Given the description of an element on the screen output the (x, y) to click on. 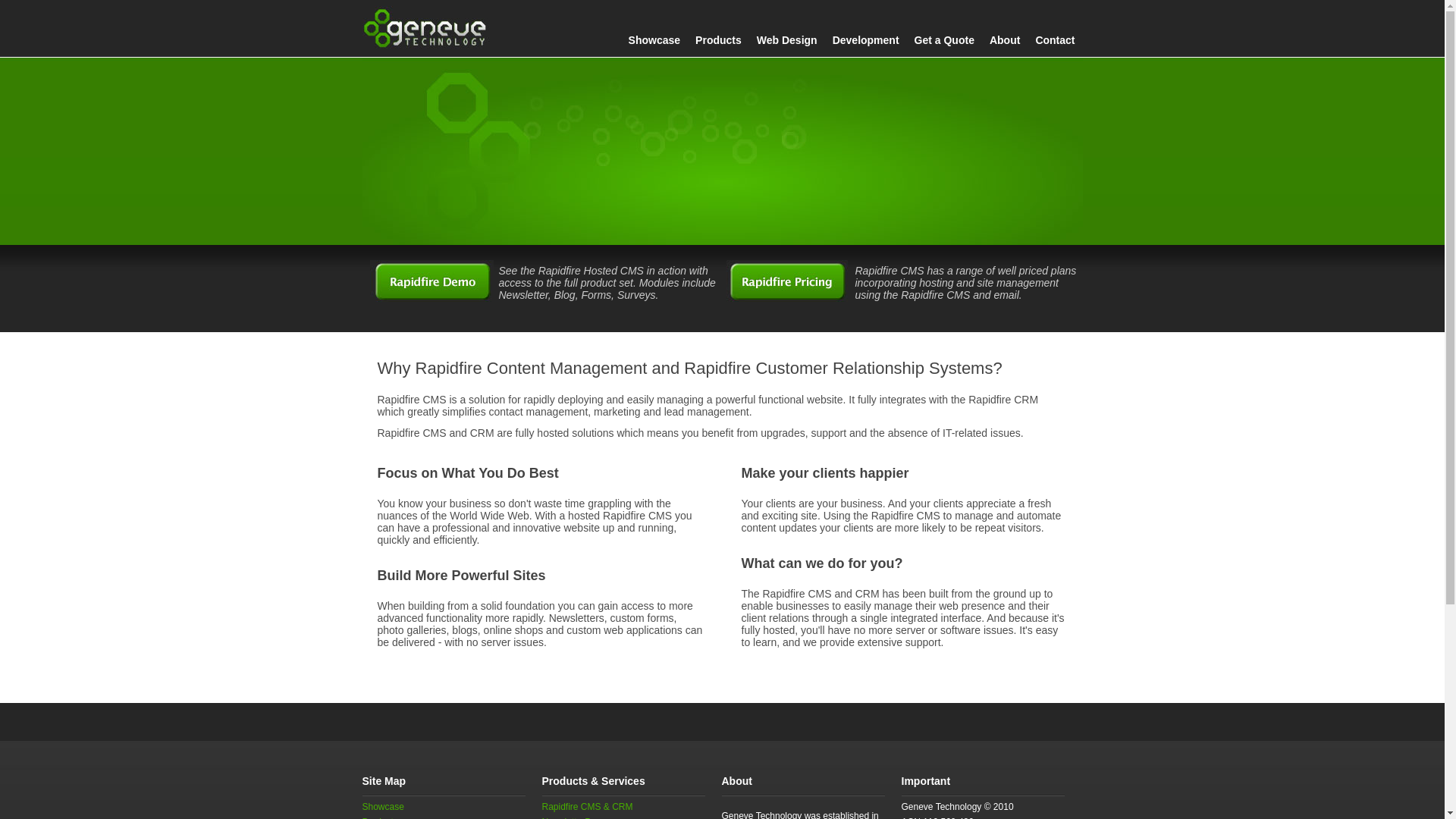
Rapidfire Request Demo Button Element type: hover (431, 280)
Web Design Element type: text (787, 40)
Rapidfire Pricing Button Element type: hover (786, 280)
Development Element type: text (865, 40)
Rapidfire CMS & CRM Element type: text (586, 806)
Contact Element type: text (1054, 40)
Showcase Element type: text (383, 806)
About Element type: text (1004, 40)
Get a Quote Element type: text (944, 40)
Showcase Element type: text (654, 40)
Products Element type: text (718, 40)
